Given the description of an element on the screen output the (x, y) to click on. 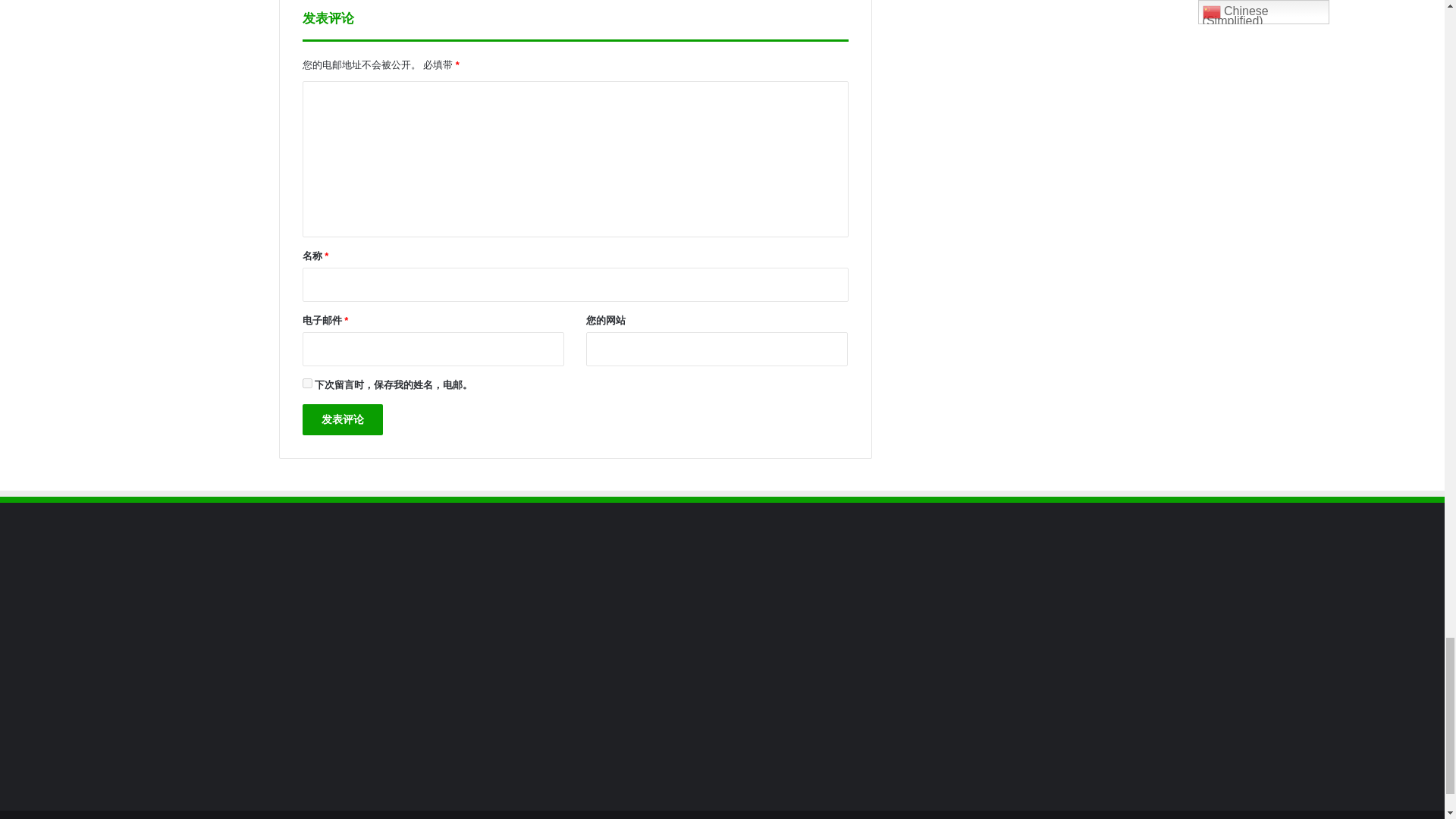
yes (306, 383)
